Given the description of an element on the screen output the (x, y) to click on. 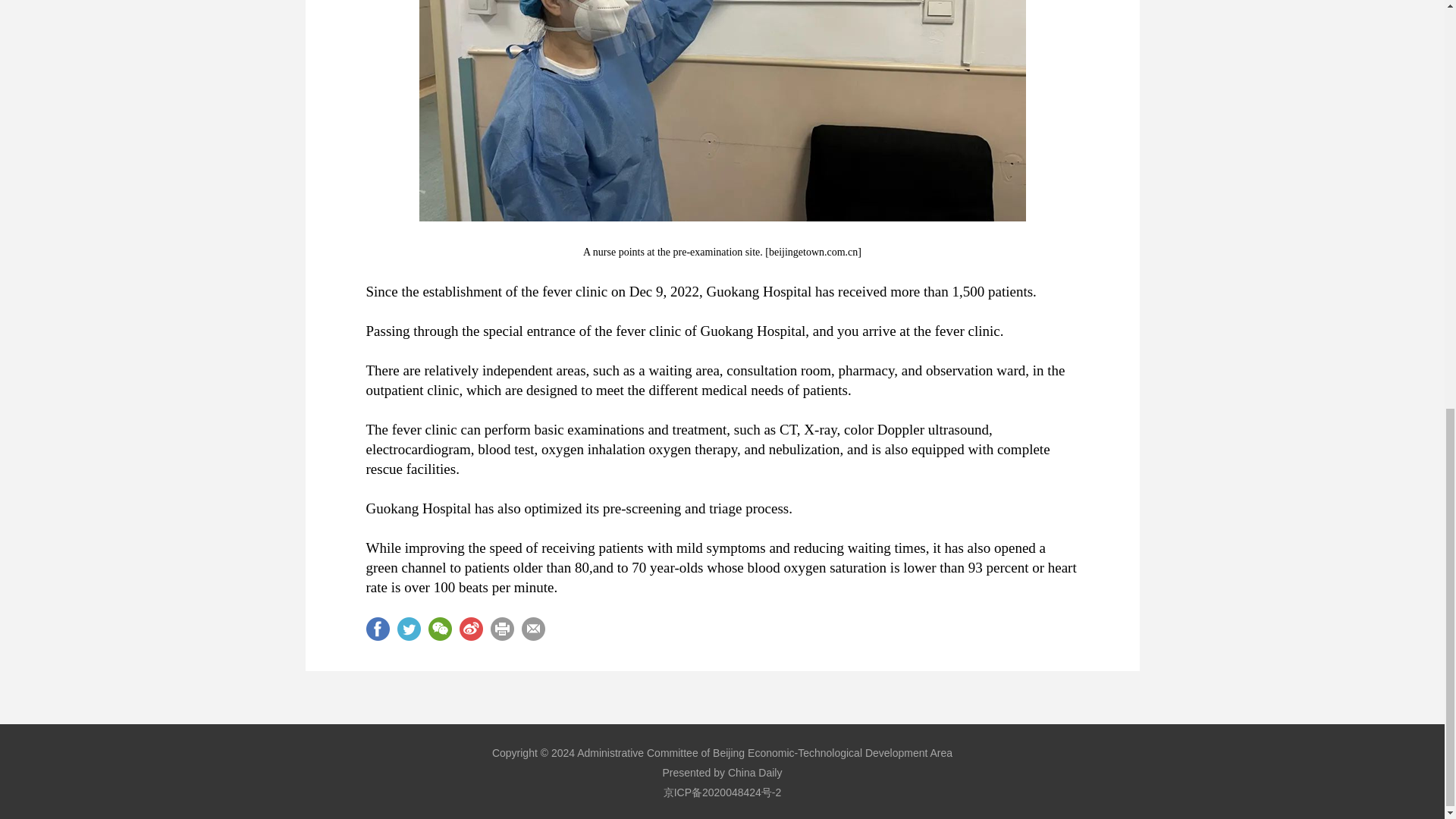
1673431203286041684.png (722, 110)
